Given the description of an element on the screen output the (x, y) to click on. 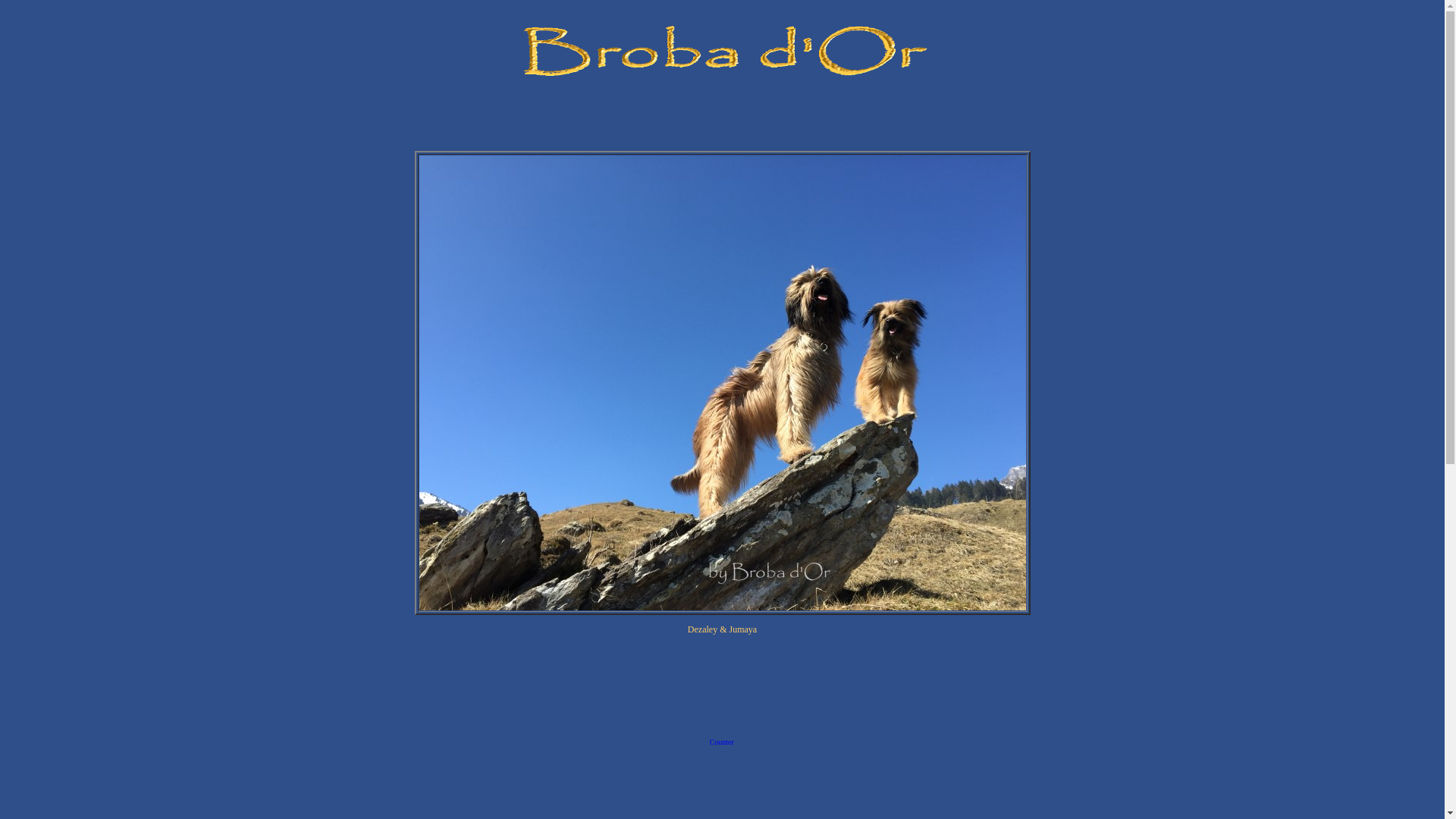
Counter Element type: text (721, 743)
